Given the description of an element on the screen output the (x, y) to click on. 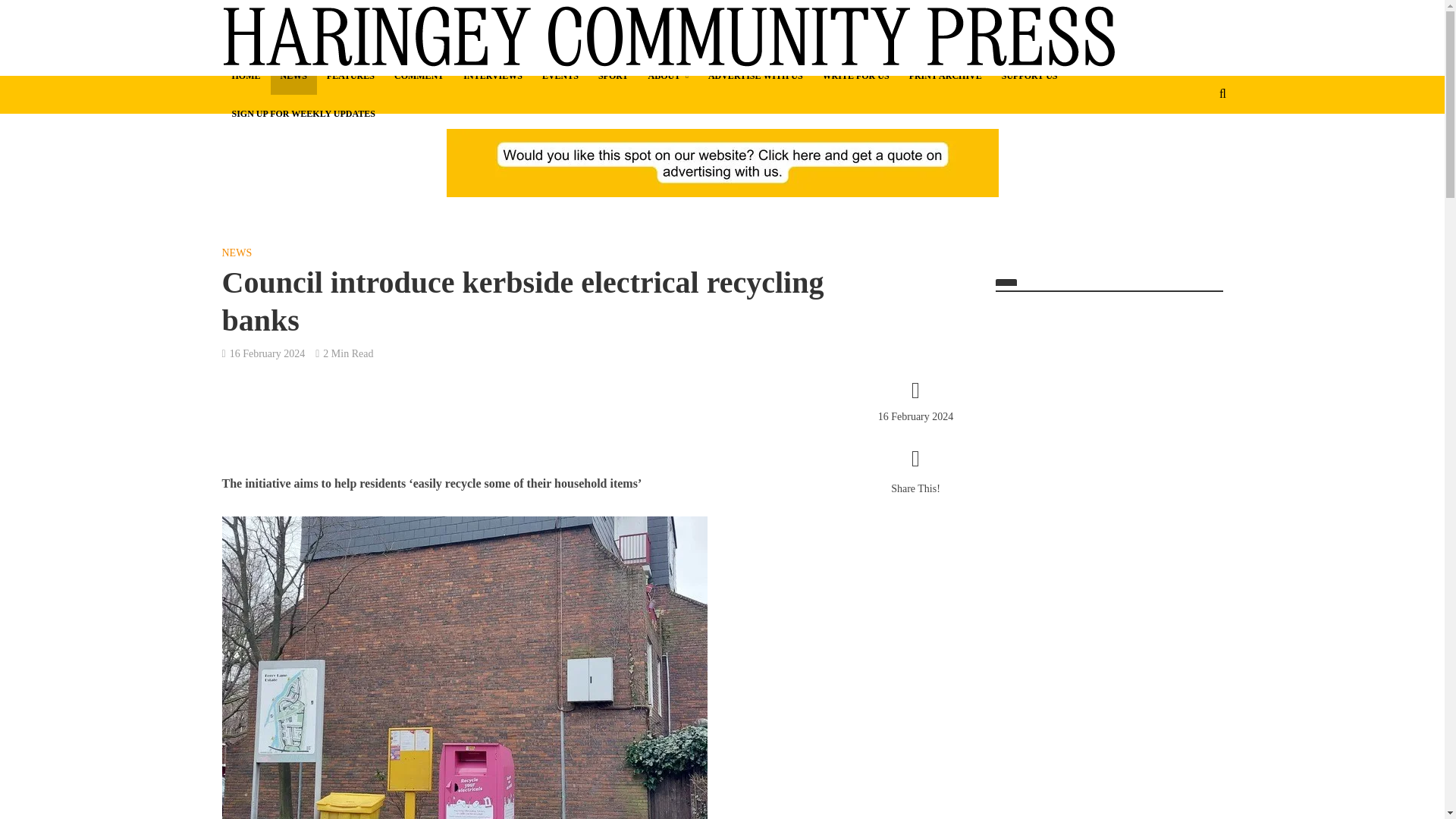
FEATURES (350, 75)
SPORT (613, 75)
SUPPORT US (1029, 75)
WRITE FOR US (855, 75)
COMMENT (418, 75)
PRINT ARCHIVE (945, 75)
EVENTS (560, 75)
ADVERTISE WITH US (755, 75)
ABOUT (668, 75)
SIGN UP FOR WEEKLY UPDATES (302, 113)
